Given the description of an element on the screen output the (x, y) to click on. 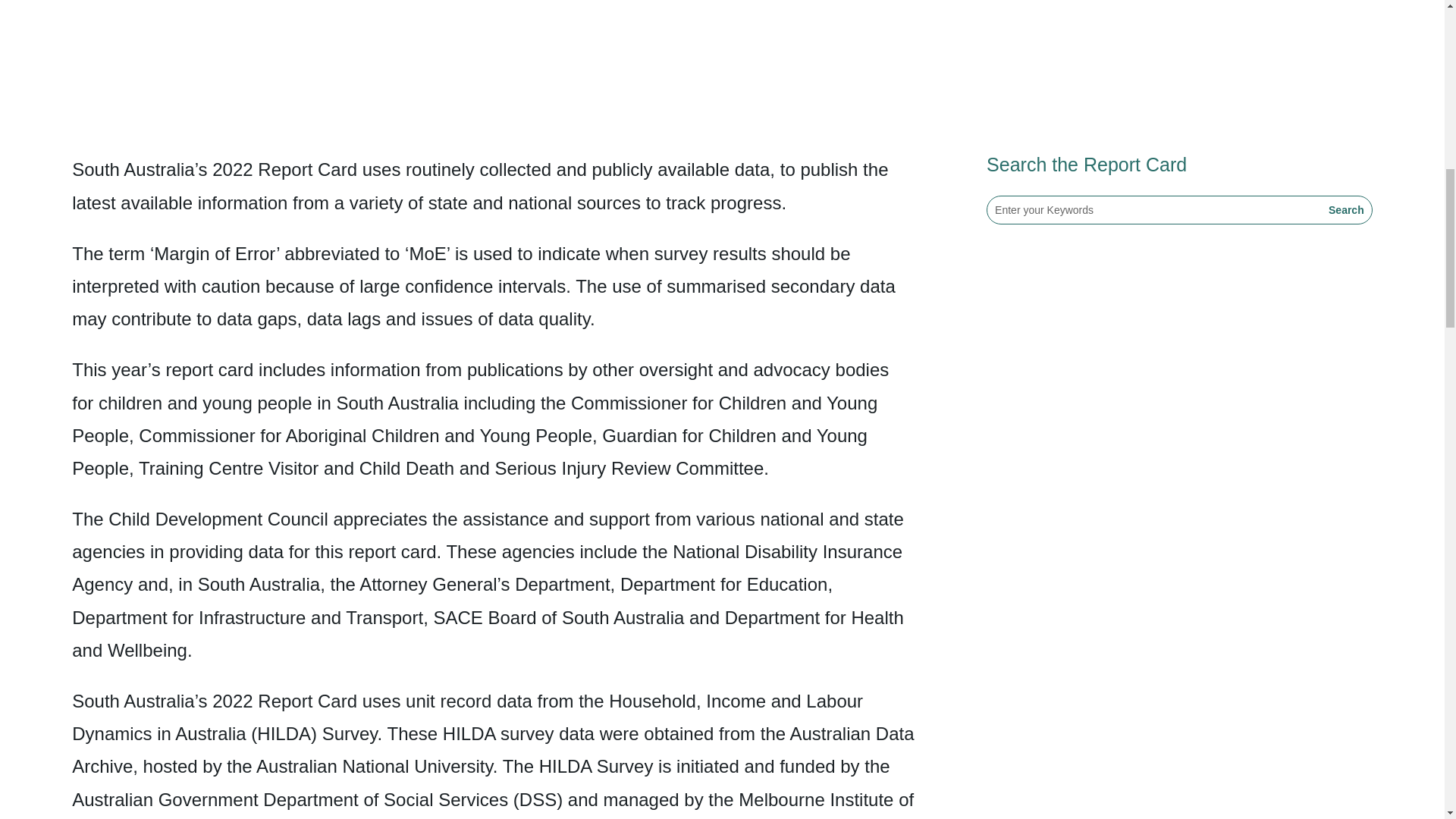
Search (1345, 209)
Search (1345, 209)
